Given the description of an element on the screen output the (x, y) to click on. 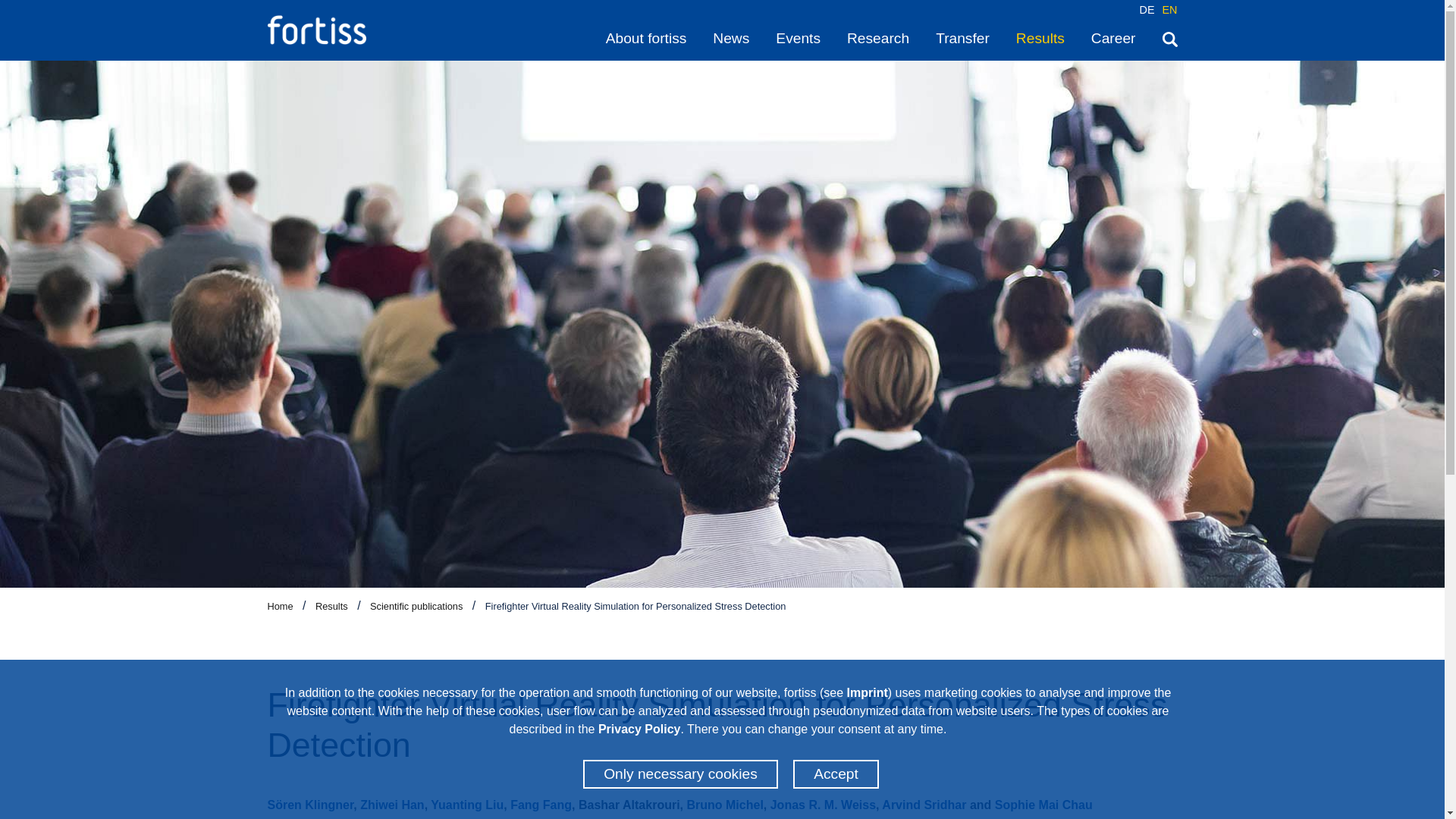
Events (798, 38)
About fortiss (646, 38)
Search (1168, 38)
Research (877, 38)
Transfer (963, 38)
fortiss (315, 30)
Career (1112, 38)
Results (1040, 38)
EN (1168, 9)
DE (1146, 9)
